Given the description of an element on the screen output the (x, y) to click on. 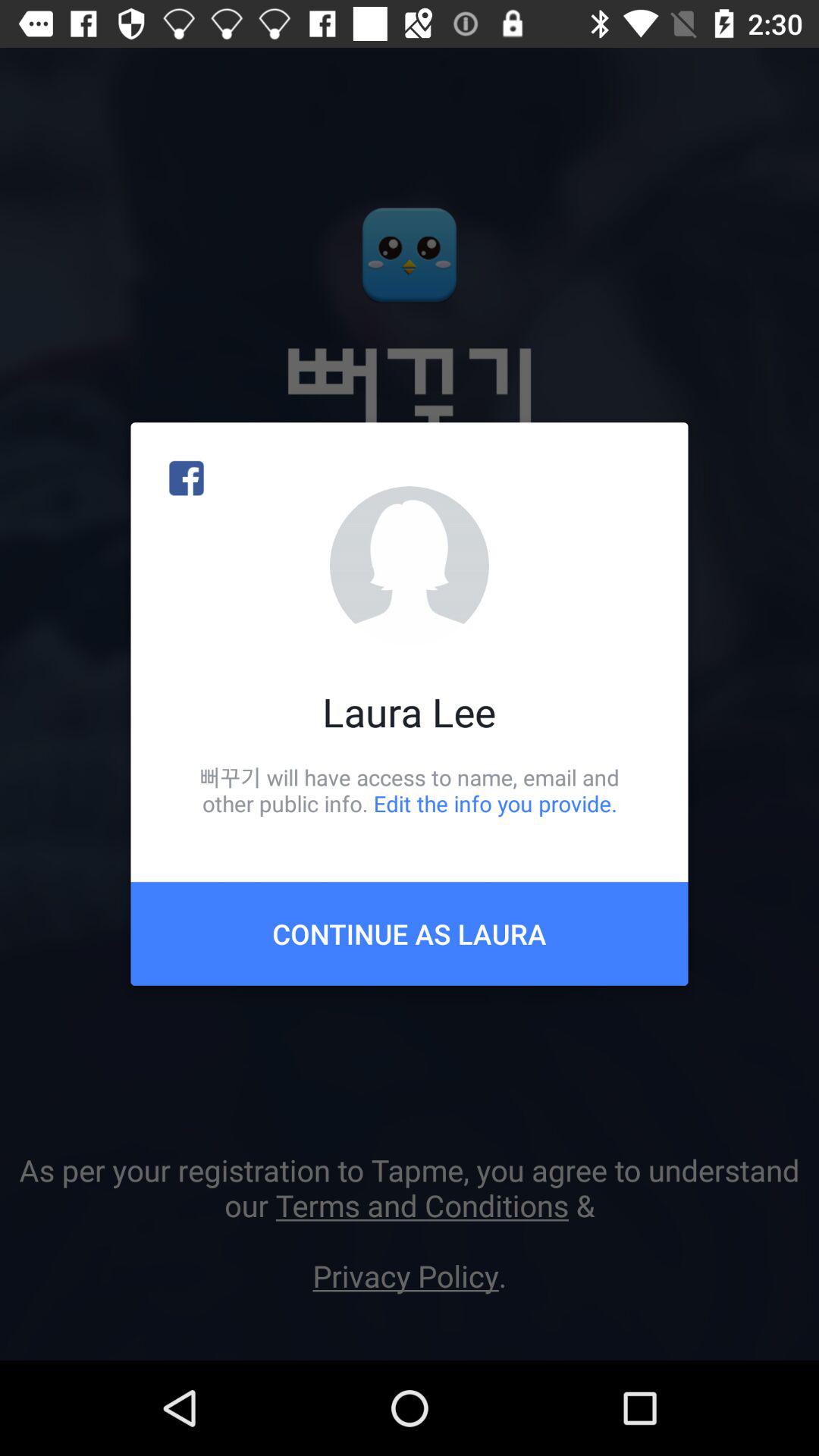
click icon above the continue as laura item (409, 790)
